Given the description of an element on the screen output the (x, y) to click on. 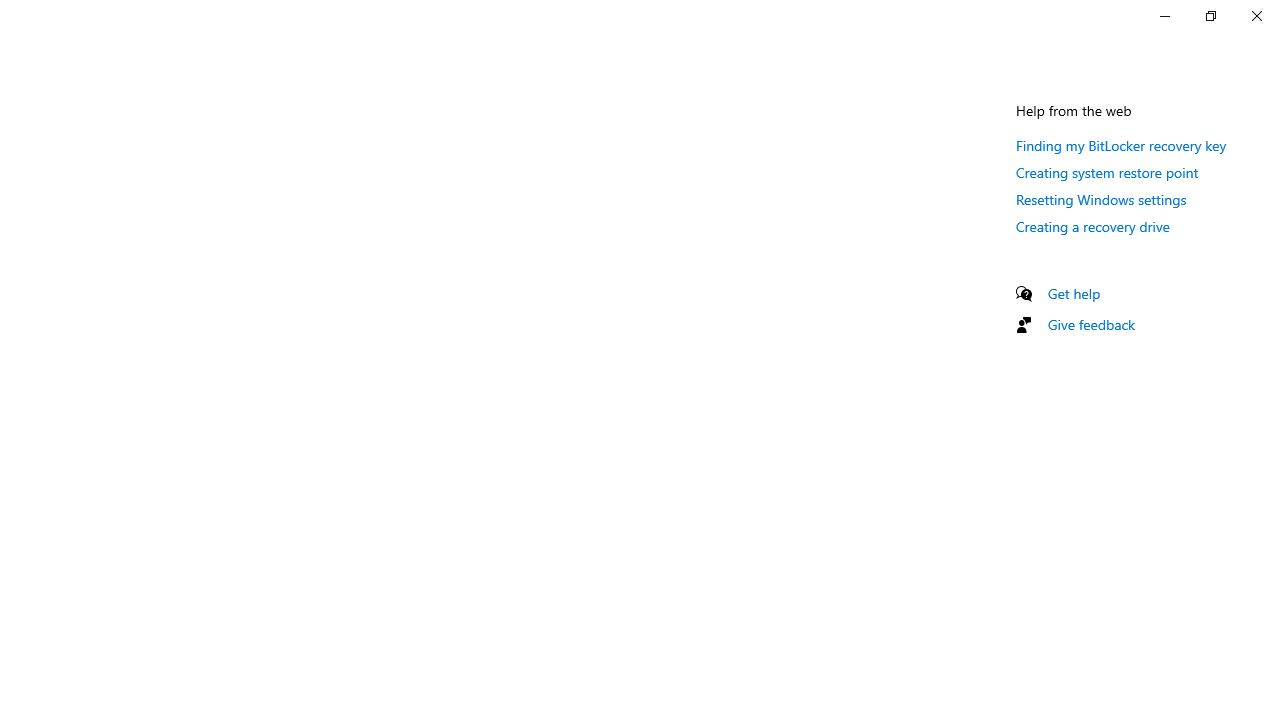
Creating a recovery drive (1092, 226)
Restore Settings (1210, 15)
Resetting Windows settings (1101, 199)
Creating system restore point (1107, 172)
Close Settings (1256, 15)
Finding my BitLocker recovery key (1121, 145)
Get help (1074, 293)
Give feedback (1091, 324)
Minimize Settings (1164, 15)
